Given the description of an element on the screen output the (x, y) to click on. 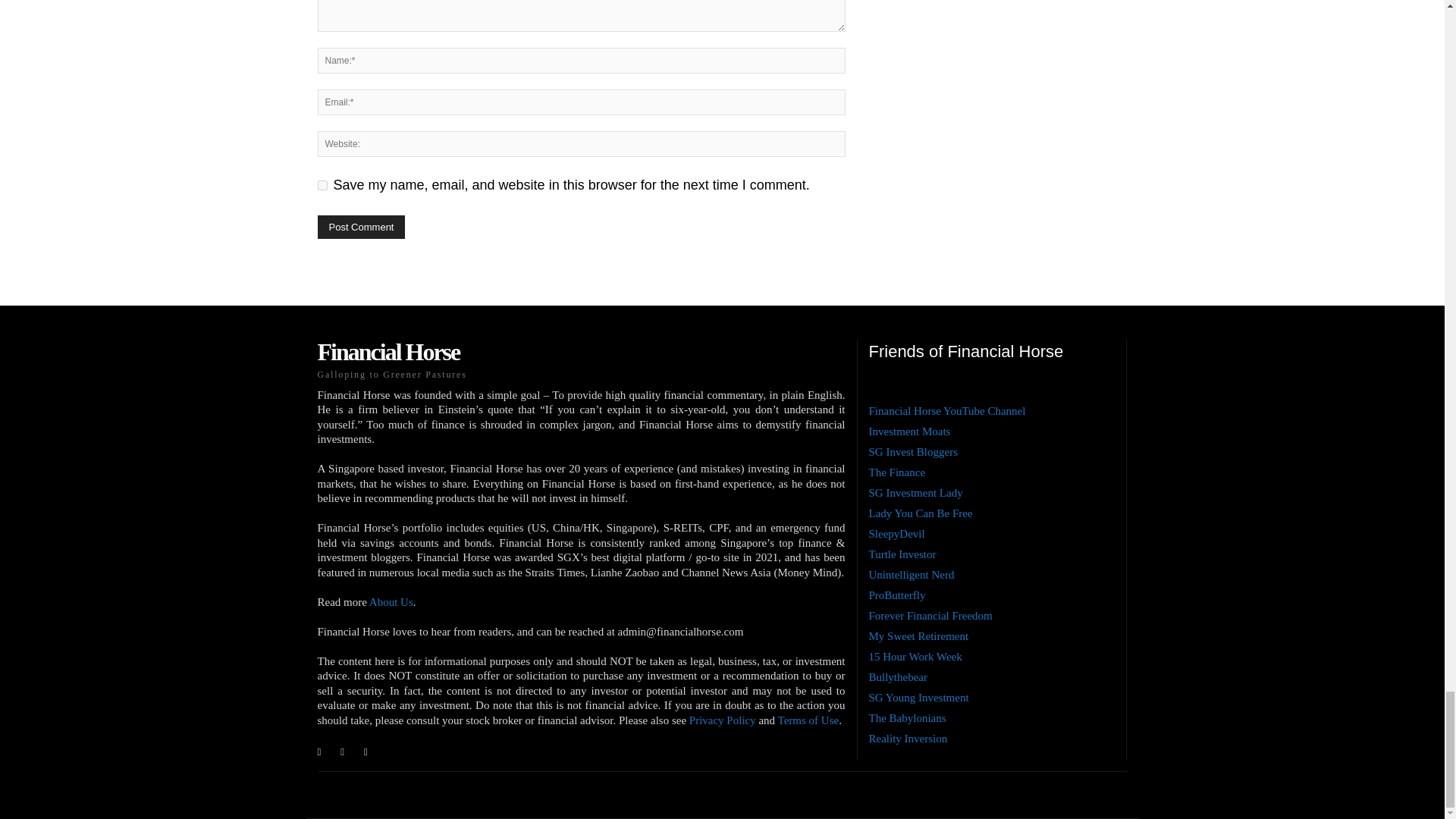
yes (321, 185)
Twitter (366, 747)
Facebook (318, 747)
Instagram (342, 747)
Post Comment (360, 227)
